Given the description of an element on the screen output the (x, y) to click on. 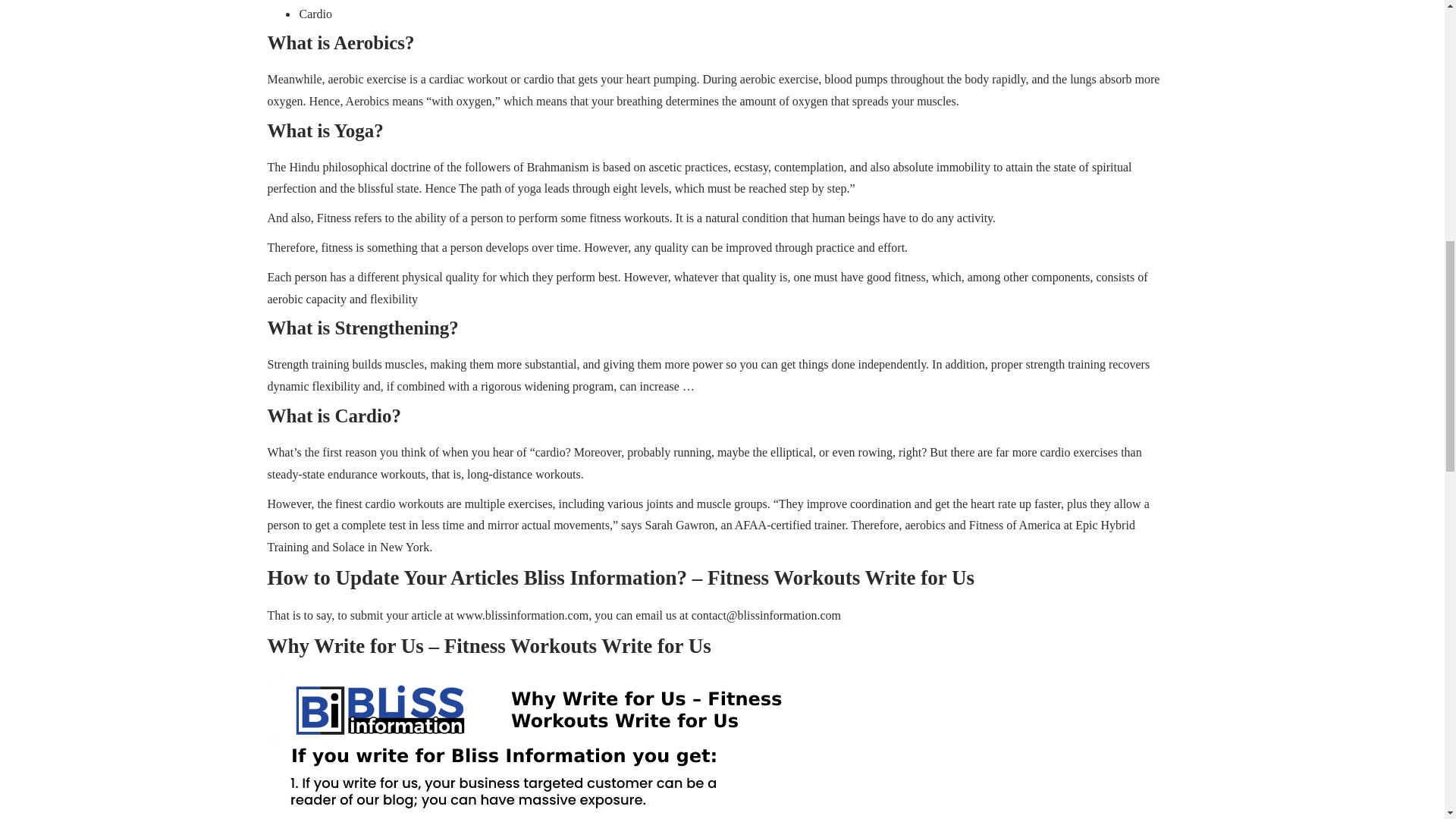
fitness (909, 277)
Fitness (986, 524)
workout (486, 78)
